Given the description of an element on the screen output the (x, y) to click on. 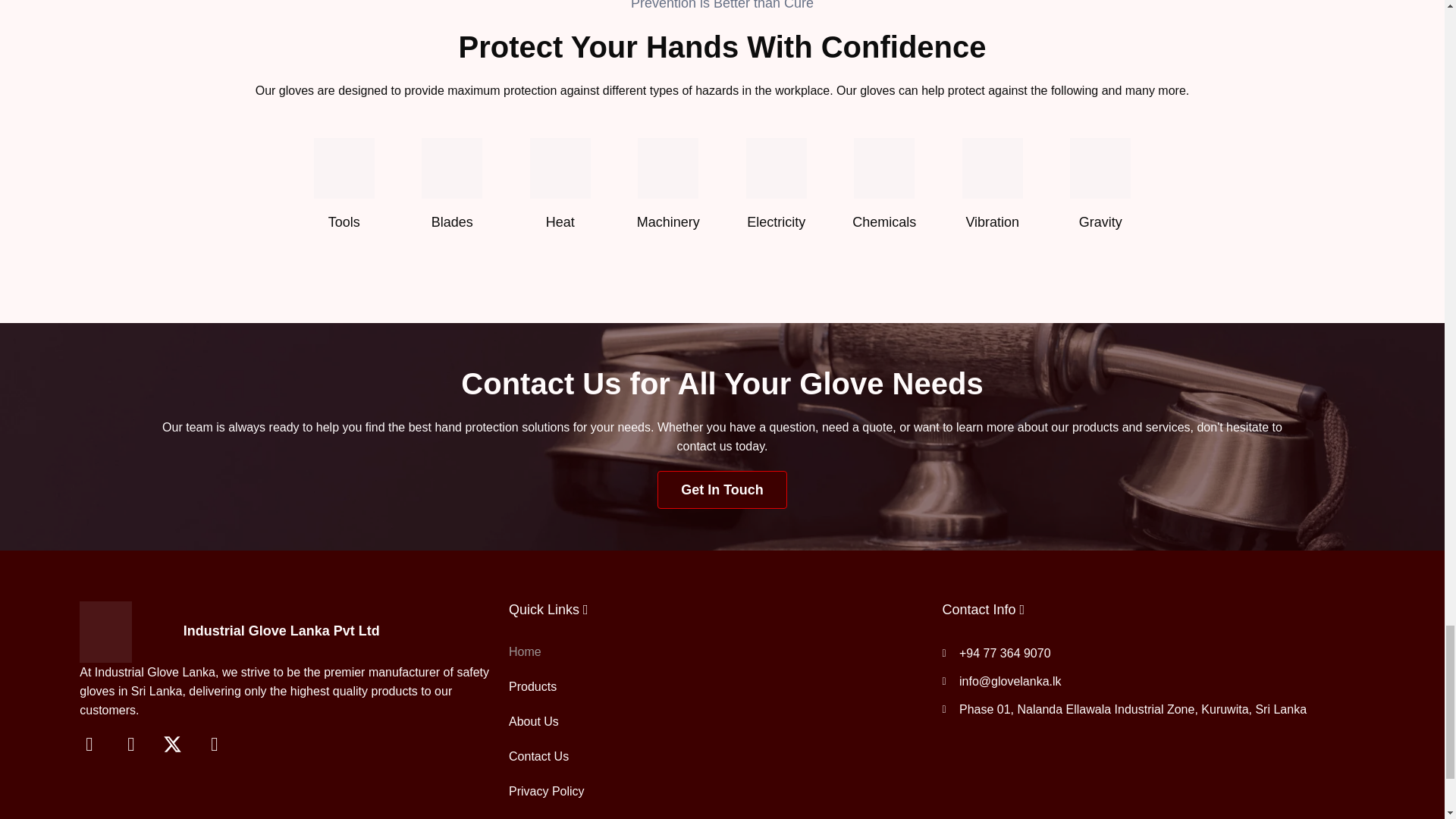
Home (717, 651)
Get In Touch (722, 489)
About Us (717, 721)
Products (717, 686)
Industrial Glove Lanka Pvt Ltd (281, 630)
Contact Us (717, 756)
Privacy Policy (717, 791)
